Given the description of an element on the screen output the (x, y) to click on. 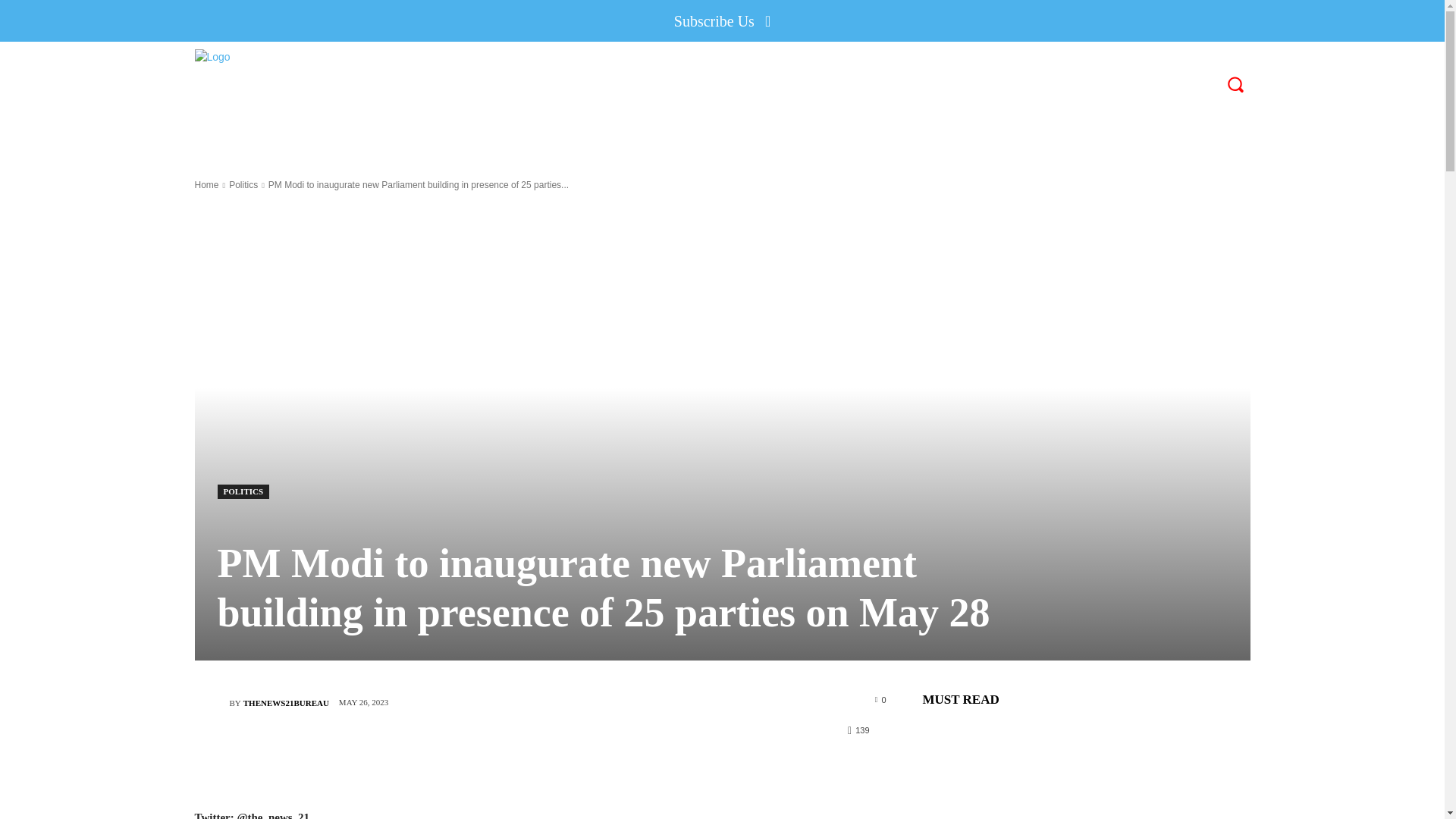
Politics (242, 184)
0 (880, 698)
THENEWS21BUREAU (286, 702)
View all posts in Politics (242, 184)
POLITICS (242, 491)
Home (205, 184)
thenews21bureau (210, 702)
